Given the description of an element on the screen output the (x, y) to click on. 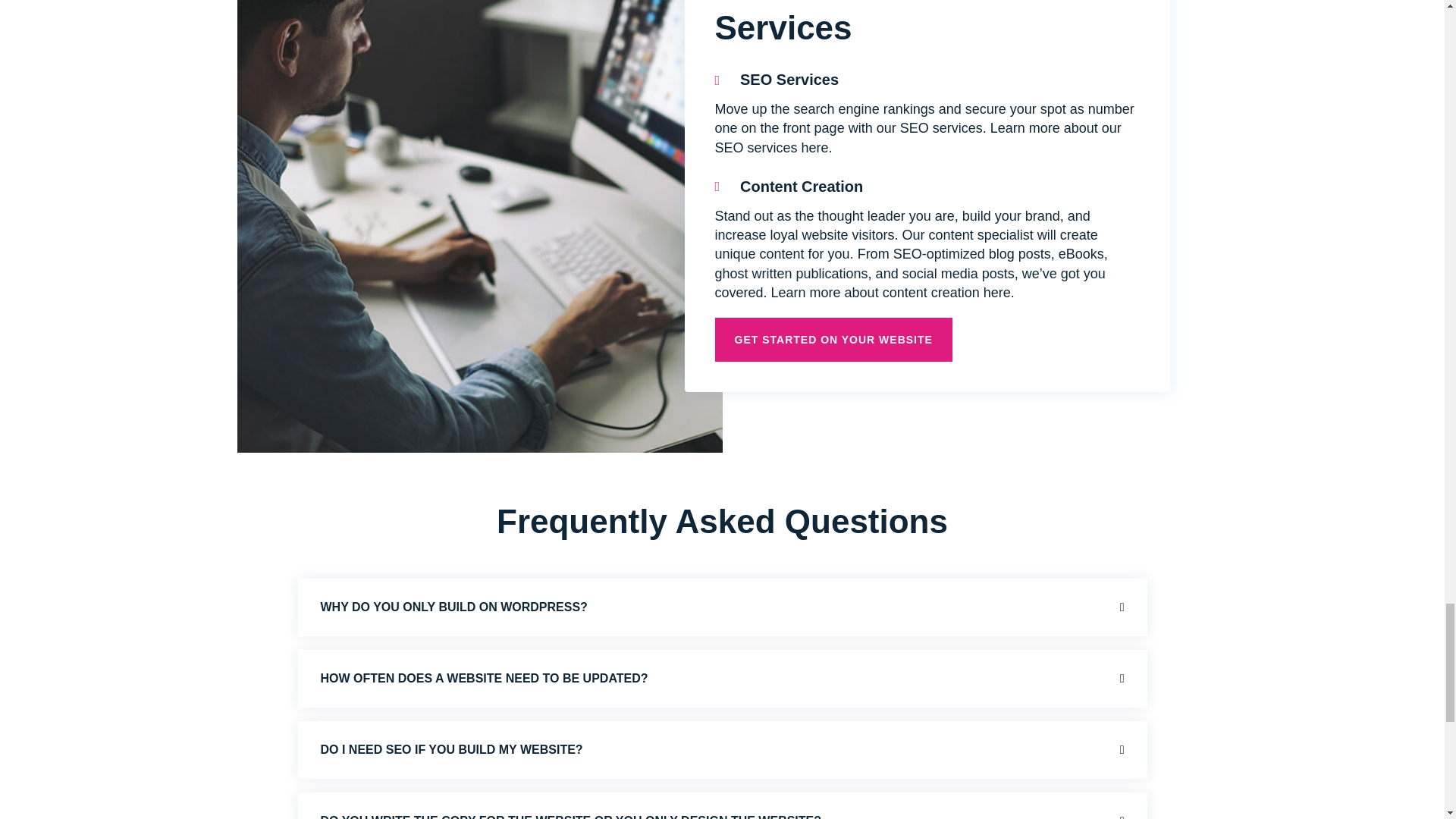
HOW OFTEN DOES A WEBSITE NEED TO BE UPDATED? (483, 677)
DO I NEED SEO IF YOU BUILD MY WEBSITE? (451, 748)
WHY DO YOU ONLY BUILD ON WORDPRESS? (453, 606)
GET STARTED ON YOUR WEBSITE (833, 339)
